Given the description of an element on the screen output the (x, y) to click on. 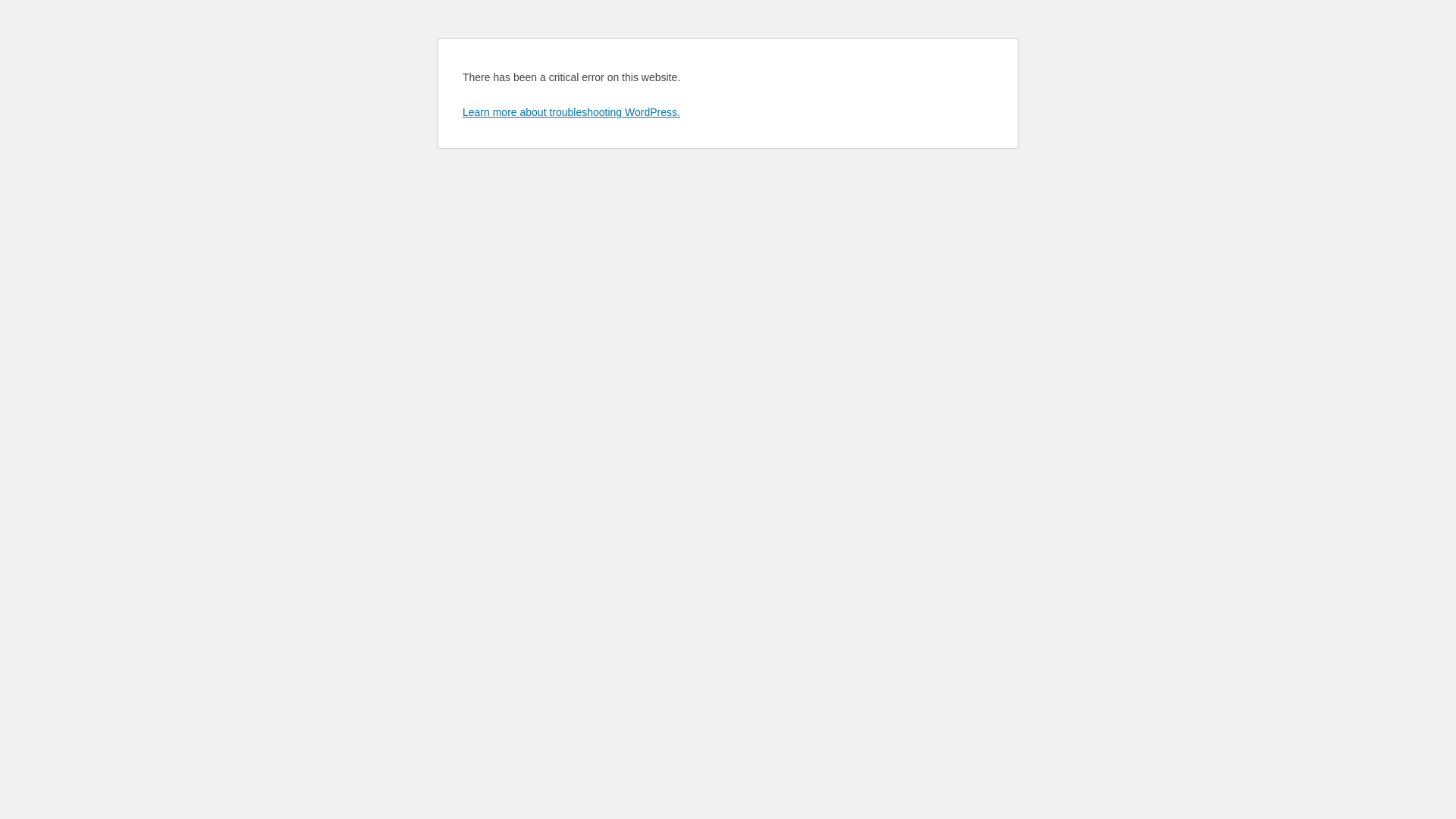
Learn more about troubleshooting WordPress. Element type: text (571, 112)
